Given the description of an element on the screen output the (x, y) to click on. 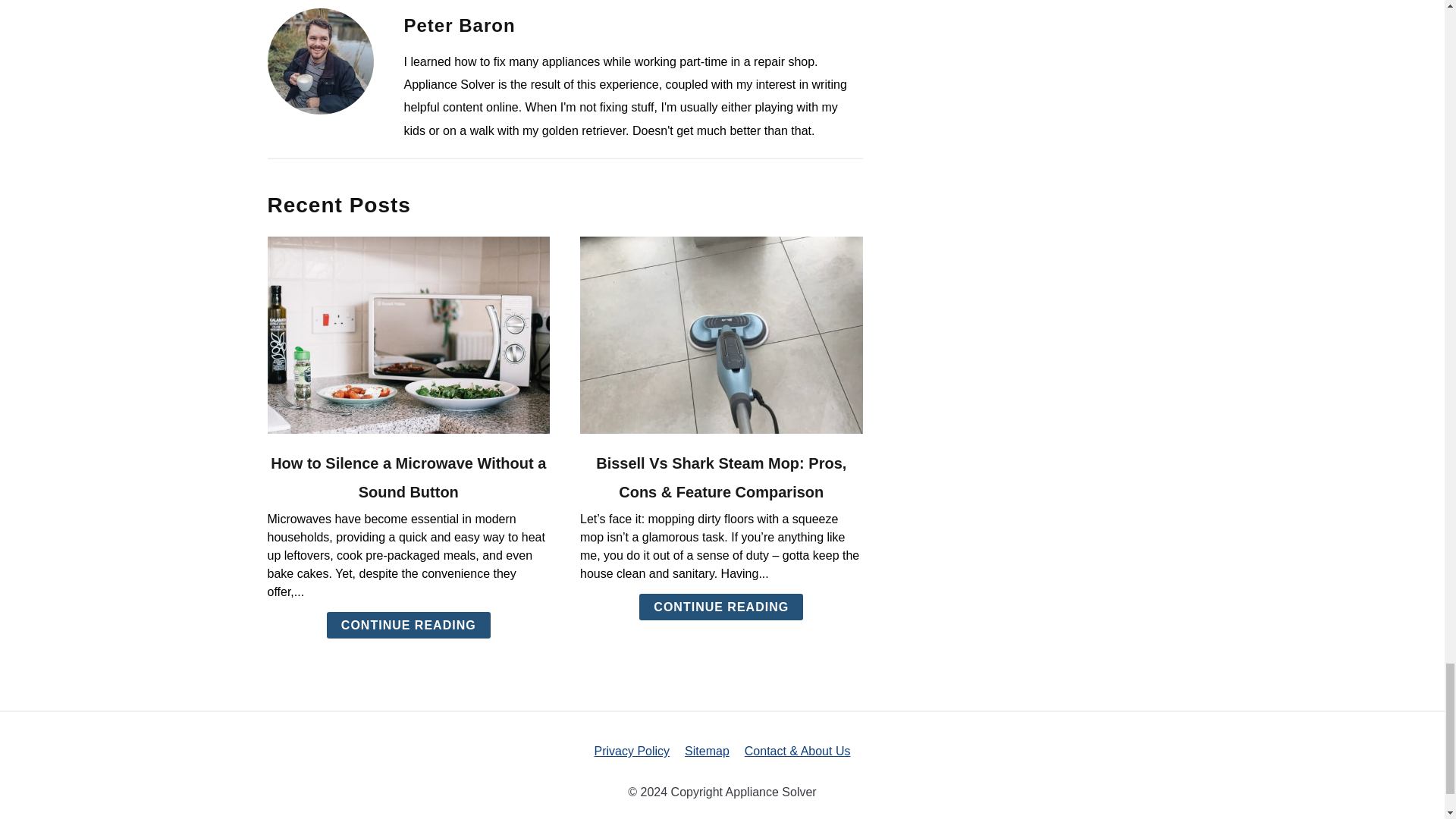
How to Silence a Microwave Without a Sound Button (408, 477)
Peter Baron (459, 25)
link to How to Silence a Microwave Without a Sound Button (408, 335)
CONTINUE READING (408, 624)
